Given the description of an element on the screen output the (x, y) to click on. 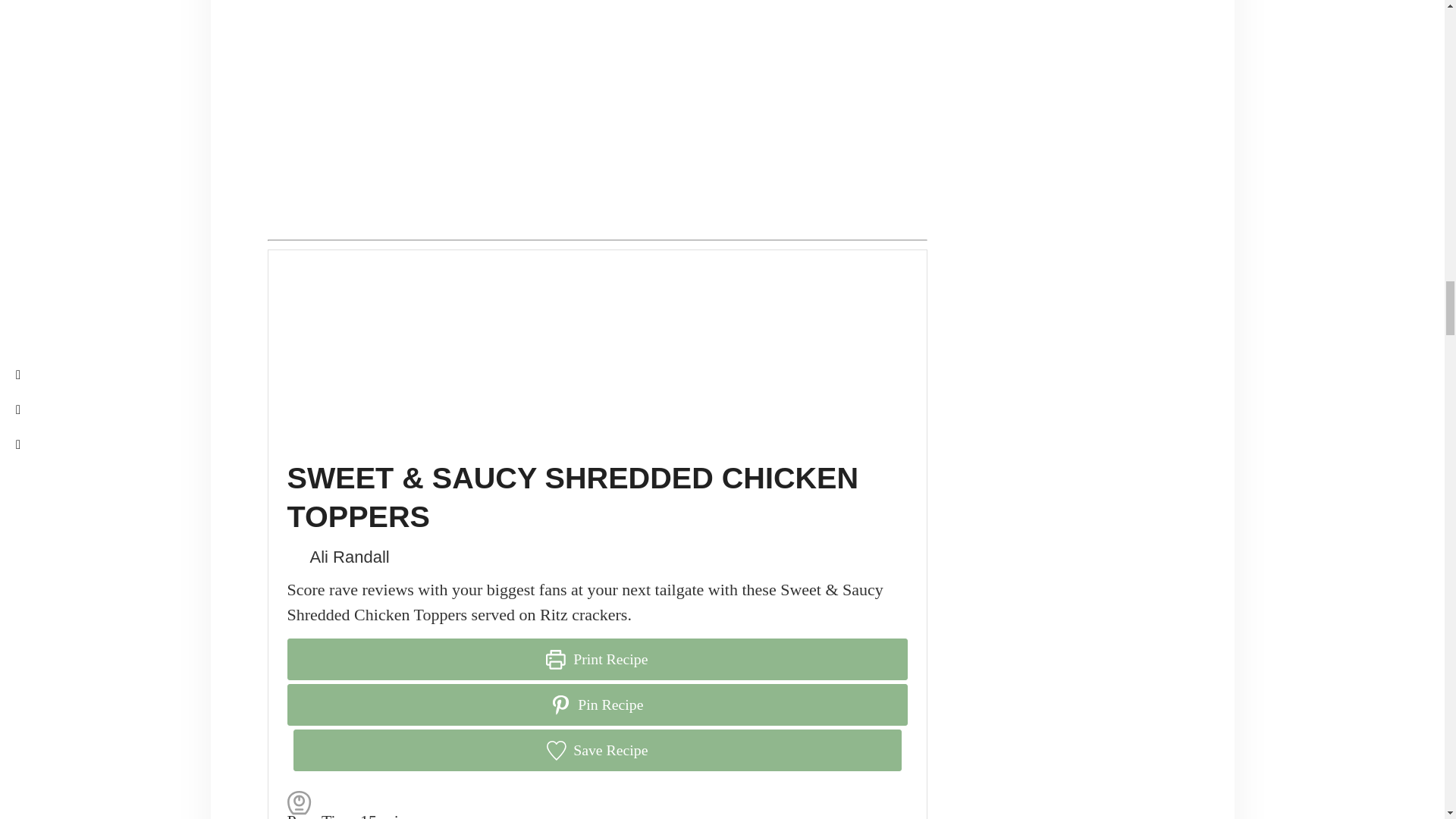
Print Recipe (596, 659)
Pin Recipe (596, 704)
Save Recipe (596, 750)
